Given the description of an element on the screen output the (x, y) to click on. 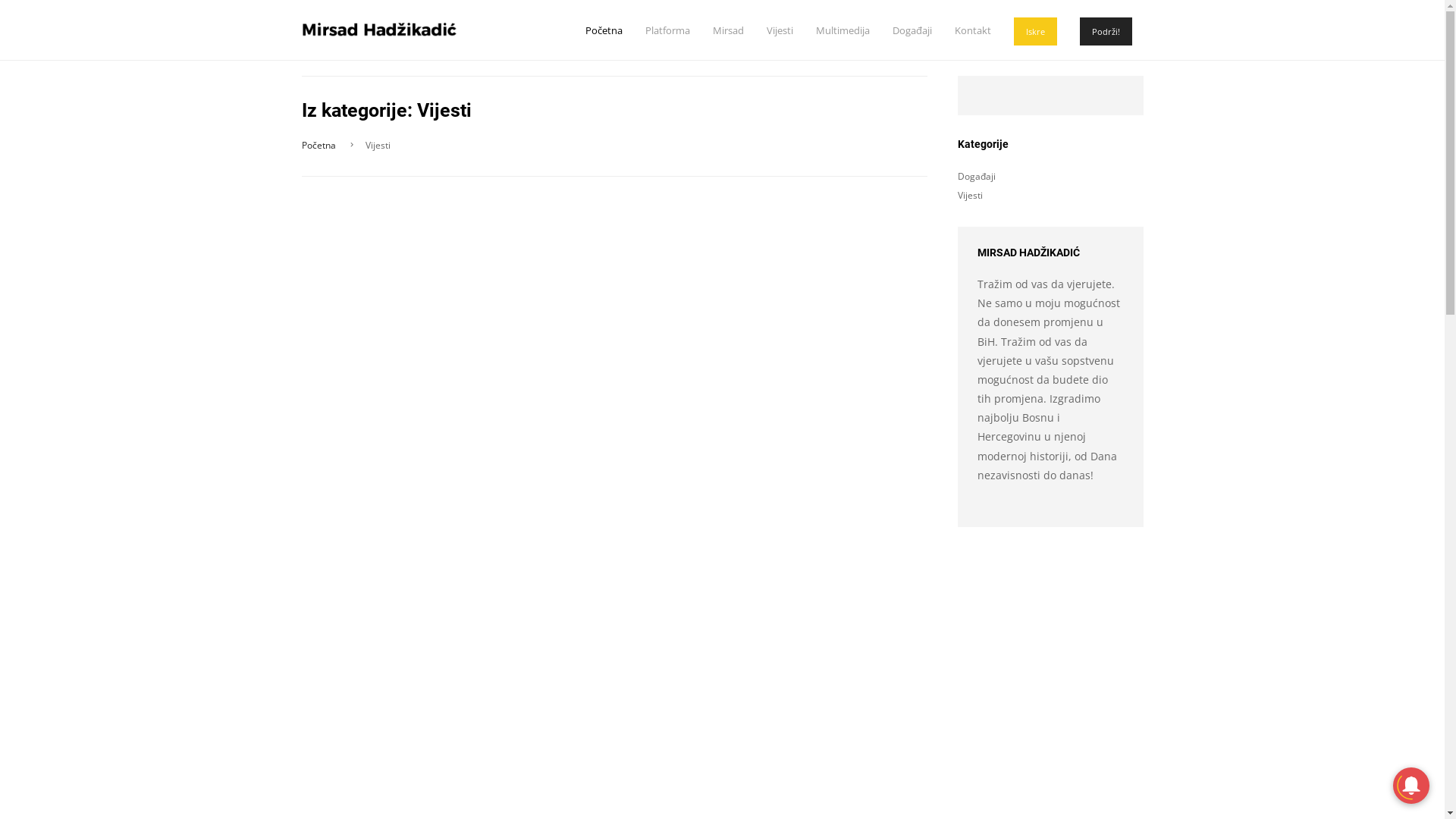
Kontakt Element type: text (971, 30)
Platforma Element type: text (666, 30)
Vijesti Element type: text (969, 194)
Mirsad Element type: text (727, 30)
Vijesti Element type: text (778, 30)
Multimedija Element type: text (842, 30)
Iskre Element type: text (1034, 31)
